Given the description of an element on the screen output the (x, y) to click on. 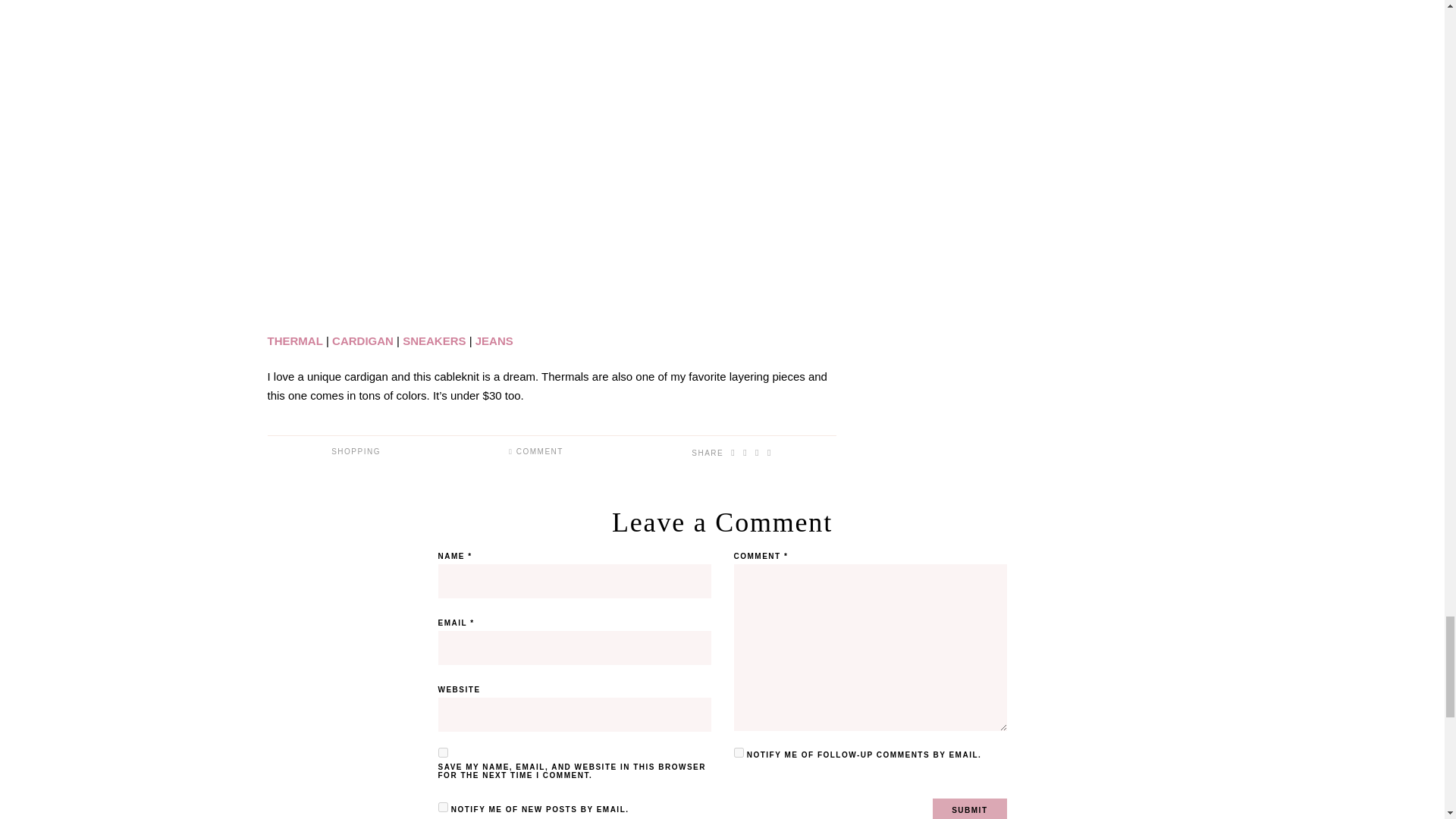
subscribe (443, 807)
Submit (969, 808)
yes (443, 752)
subscribe (738, 752)
View all posts in Shopping (355, 451)
